Given the description of an element on the screen output the (x, y) to click on. 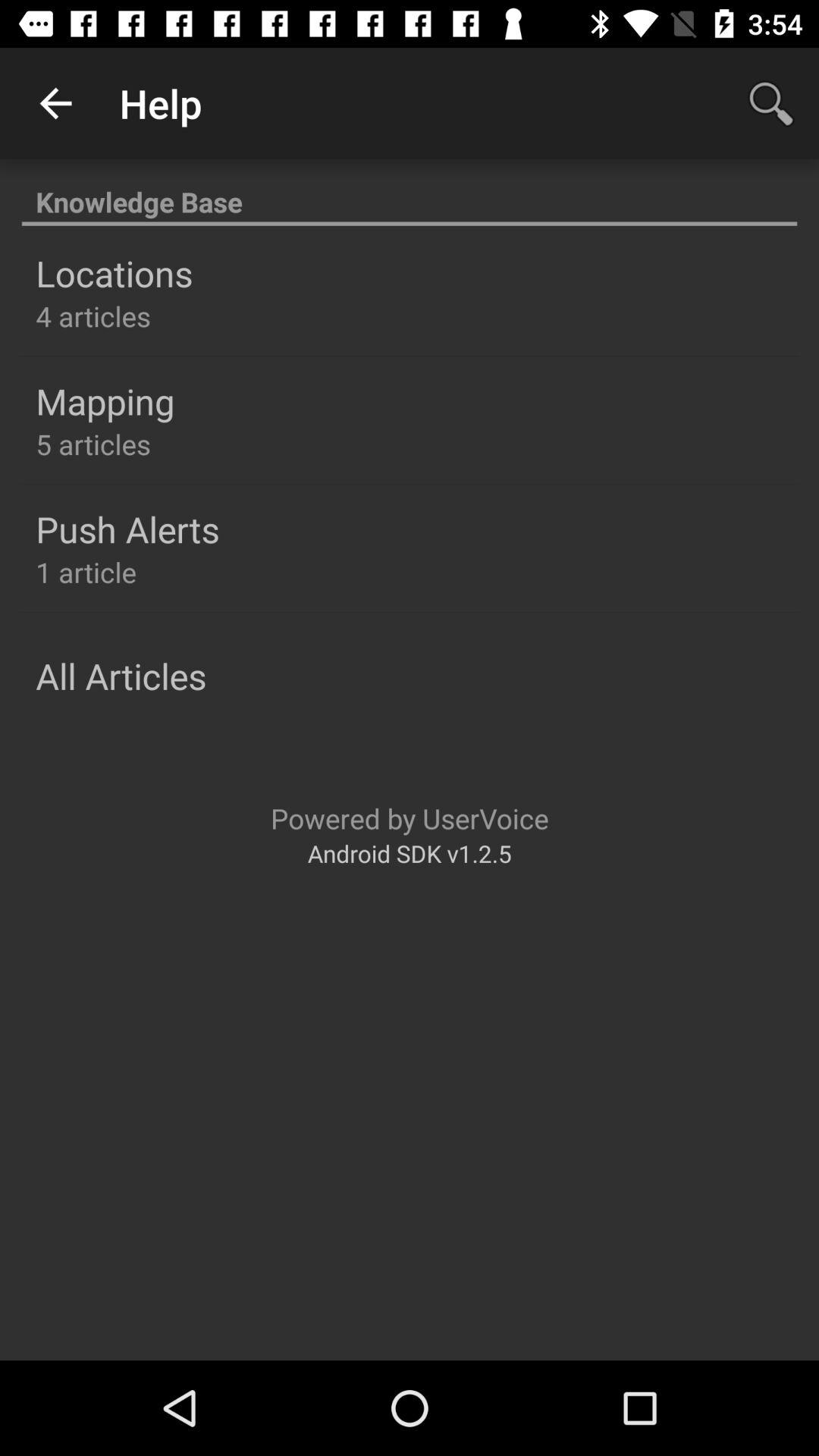
press the icon below the locations item (92, 315)
